Given the description of an element on the screen output the (x, y) to click on. 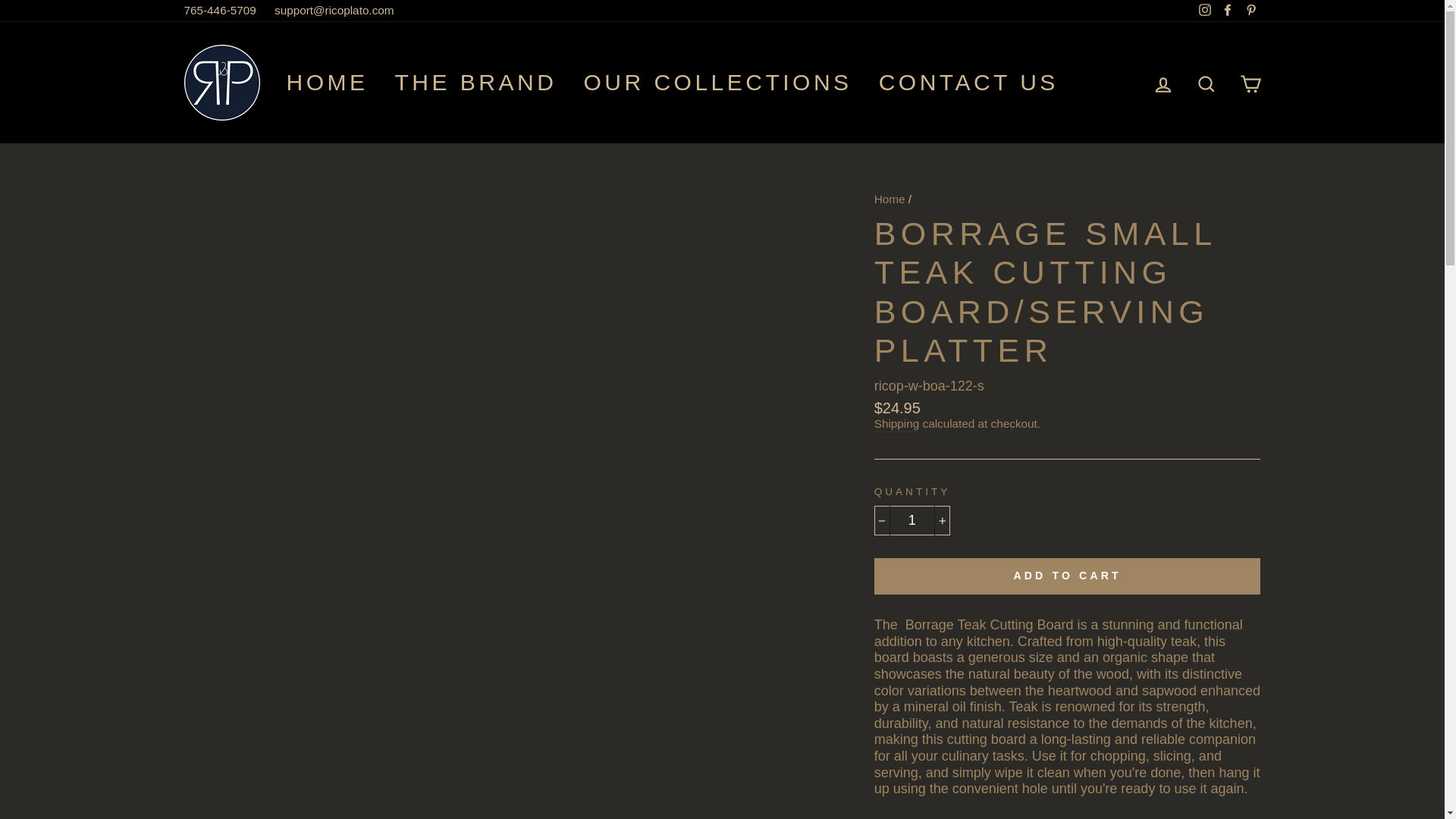
1 (912, 521)
Instagram (1204, 10)
Back to the frontpage (890, 198)
765-446-5709 (219, 10)
